Given the description of an element on the screen output the (x, y) to click on. 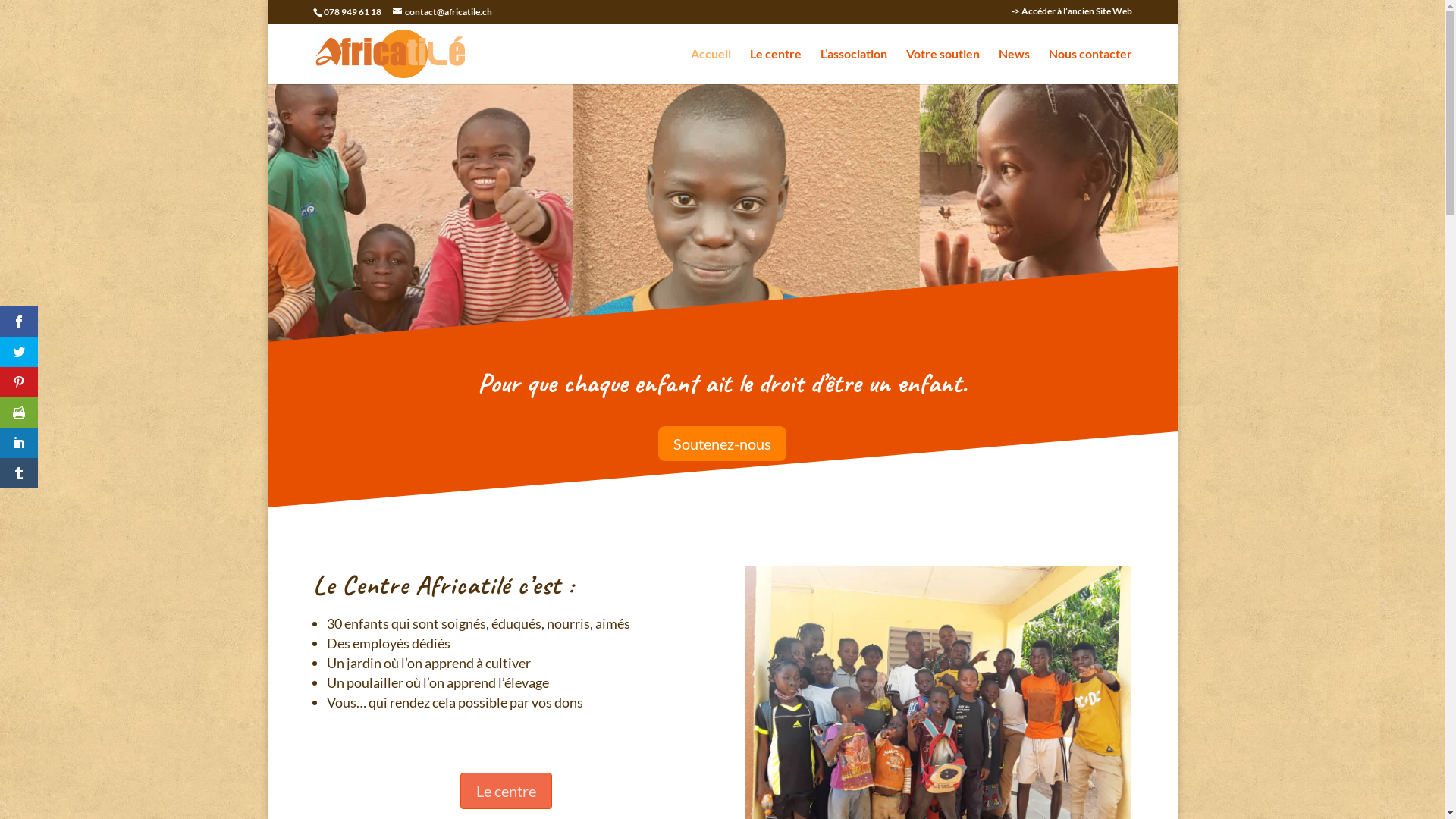
Soutenez-nous Element type: text (722, 443)
Nous contacter Element type: text (1089, 66)
Le centre Element type: text (774, 66)
News Element type: text (1013, 66)
Accueil Element type: text (710, 66)
contact@africatile.ch Element type: text (442, 11)
Le centre Element type: text (506, 790)
Votre soutien Element type: text (942, 66)
